Given the description of an element on the screen output the (x, y) to click on. 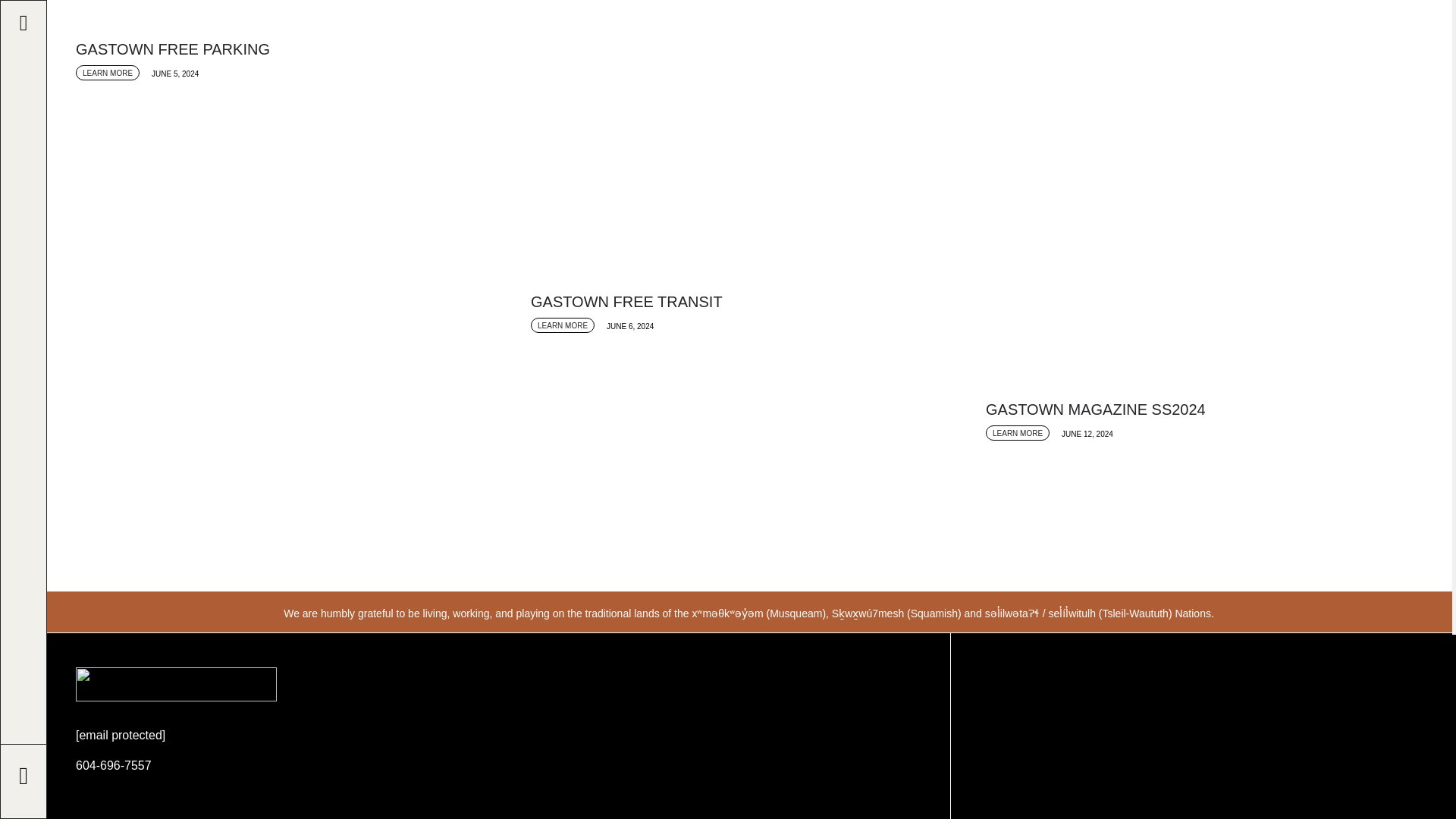
LEARN MORE (107, 72)
LEARN MORE (562, 324)
LEARN MORE (1017, 432)
GASTOWN FREE PARKING (291, 49)
GASTOWN FREE TRANSIT (746, 302)
GASTOWN MAGAZINE SS2024 (1201, 409)
604-696-7557 (113, 765)
